Given the description of an element on the screen output the (x, y) to click on. 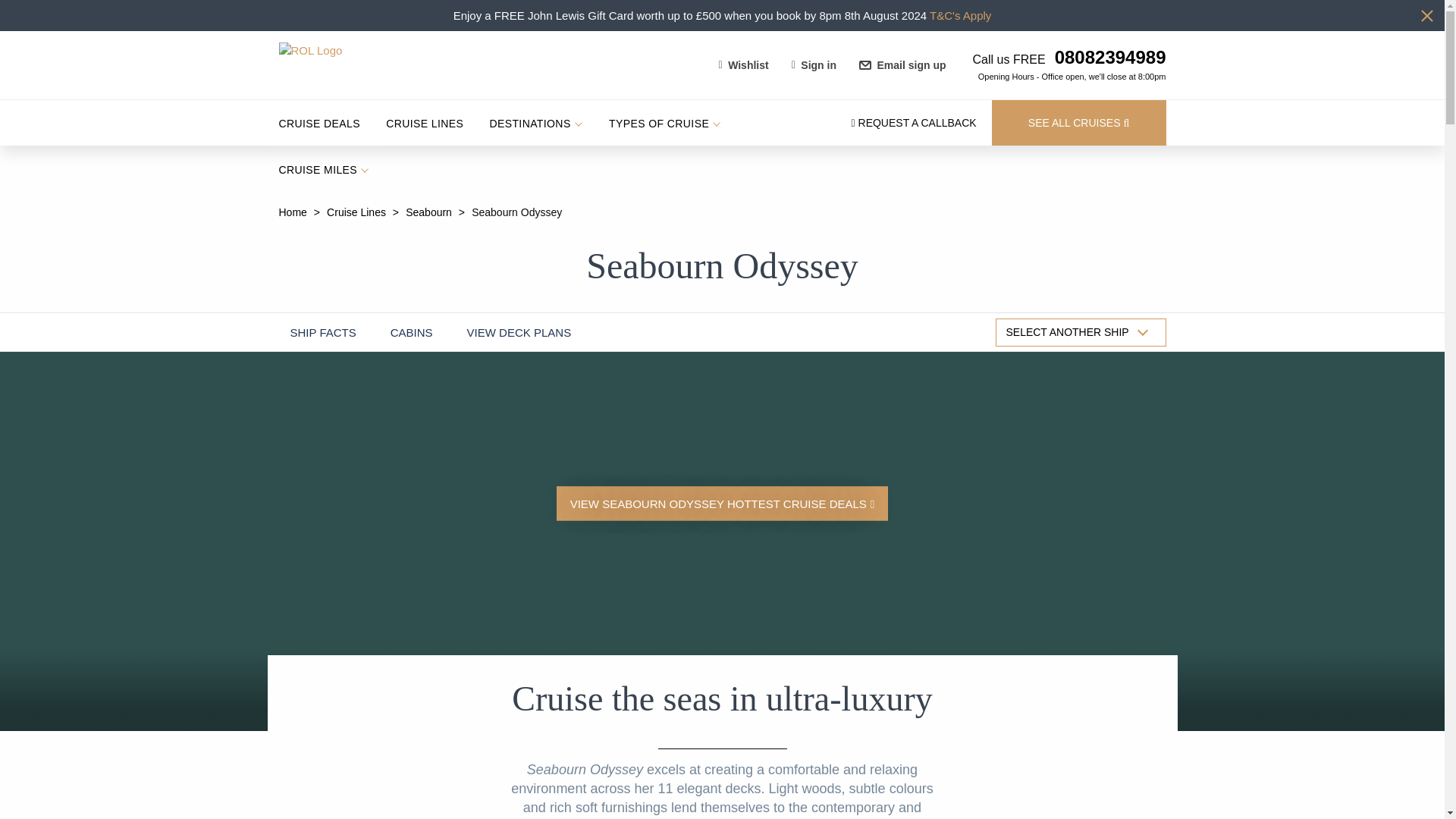
DESTINATIONS (535, 123)
Email sign up (902, 65)
Sign in (813, 65)
08082394989 (1105, 56)
TYPES OF CRUISE (664, 123)
Wishlist (743, 65)
CRUISE DEALS (318, 123)
CRUISE LINES (424, 123)
